Given the description of an element on the screen output the (x, y) to click on. 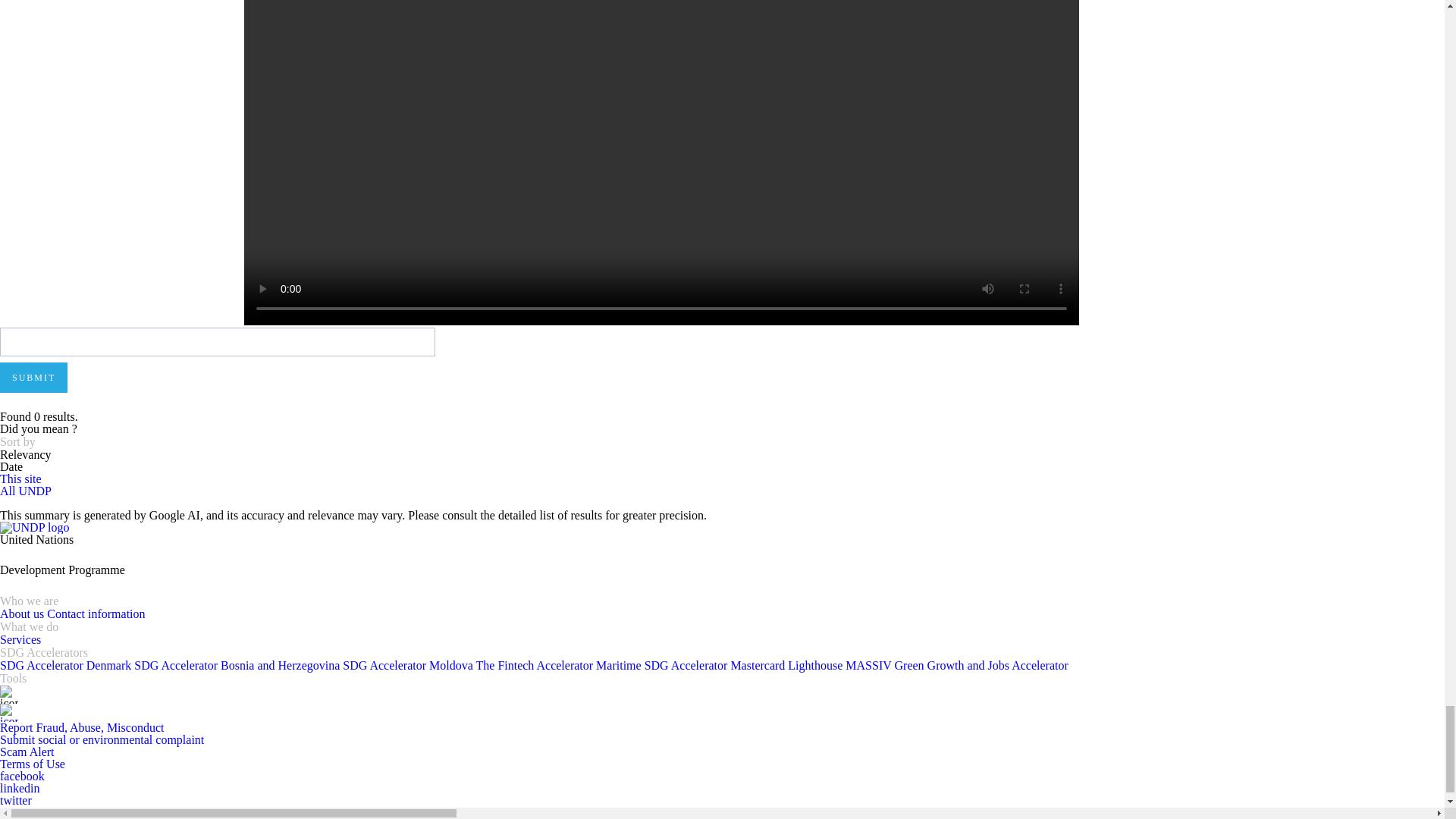
Who we are (29, 601)
About us (23, 613)
SDG Accelerators (43, 653)
Maritime SDG Accelerator (662, 665)
What we do (29, 626)
Submit (33, 377)
The Fintech Accelerator (536, 665)
Facebook (22, 775)
SDG Accelerator Moldova (409, 665)
Services (20, 639)
